Given the description of an element on the screen output the (x, y) to click on. 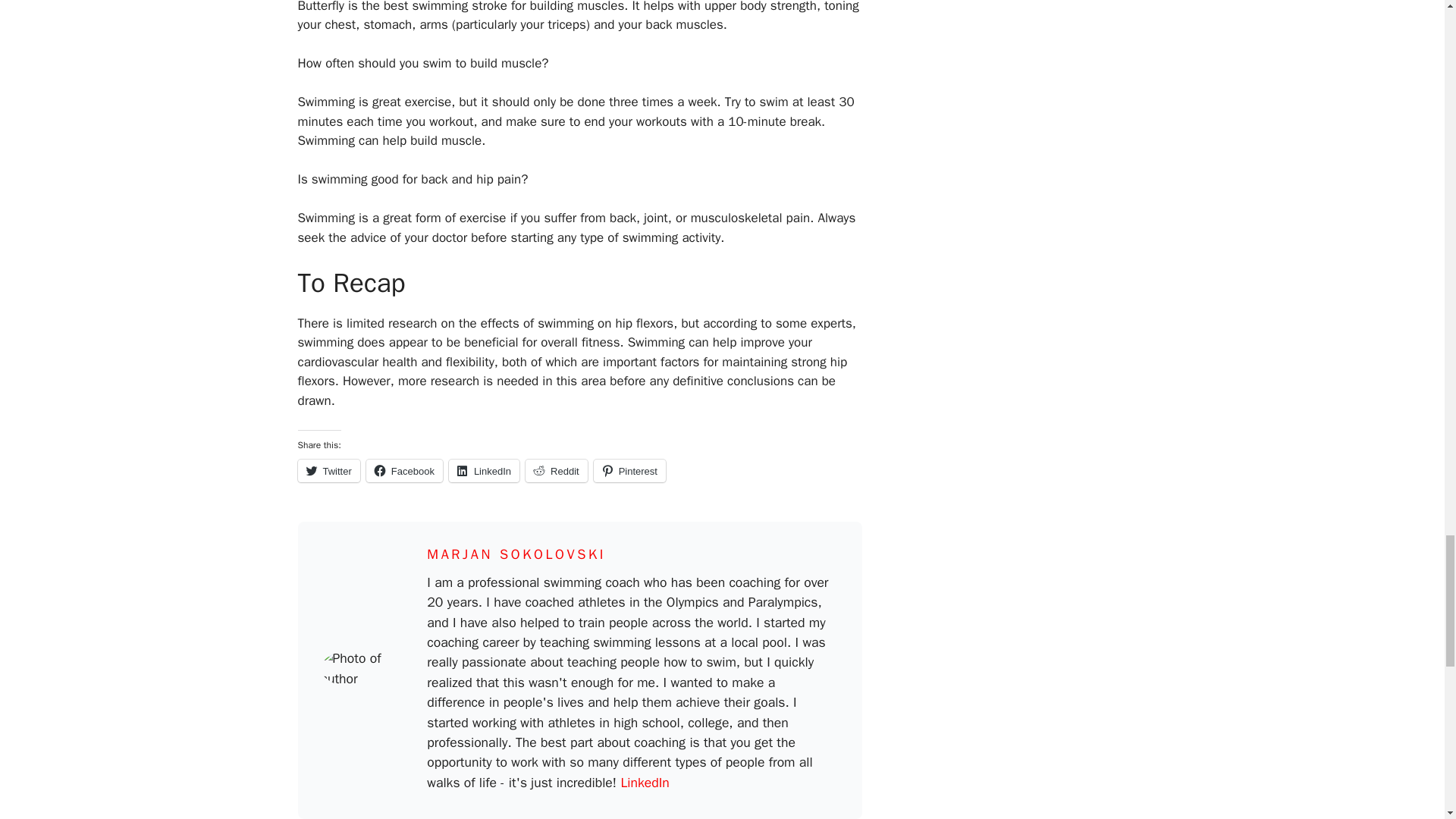
Click to share on LinkedIn (483, 470)
LinkedIn (483, 470)
Reddit (556, 470)
Click to share on Twitter (328, 470)
Twitter (328, 470)
Facebook (404, 470)
Click to share on Reddit (556, 470)
MARJAN SOKOLOVSKI (515, 554)
LinkedIn (644, 782)
Click to share on Facebook (404, 470)
